Given the description of an element on the screen output the (x, y) to click on. 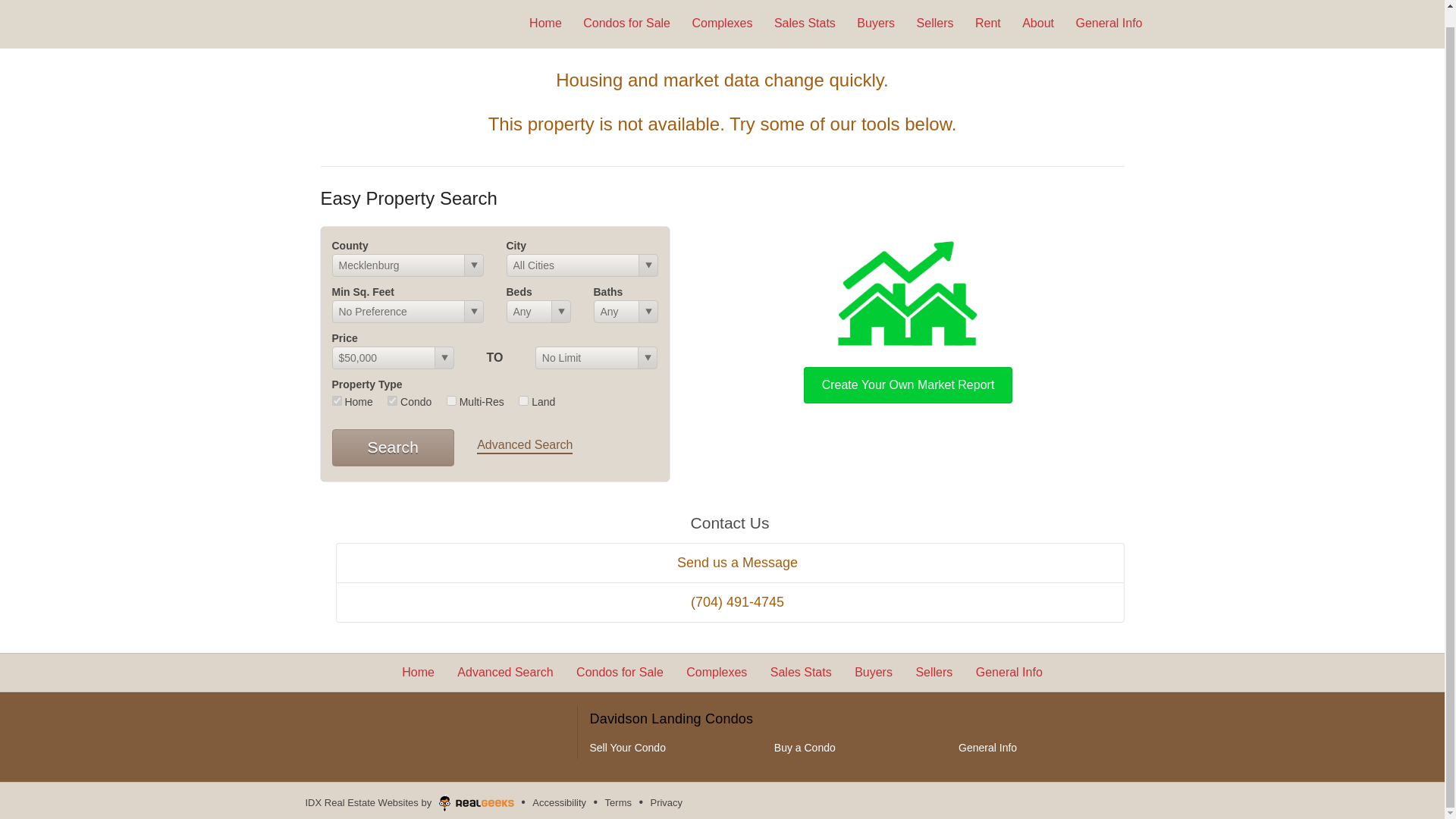
Privacy (665, 802)
Home (545, 6)
General Info (987, 747)
Accessibility (558, 802)
con (392, 400)
Search (392, 447)
lnd (523, 400)
About (1038, 6)
Advanced Search (524, 446)
Search (392, 447)
